Given the description of an element on the screen output the (x, y) to click on. 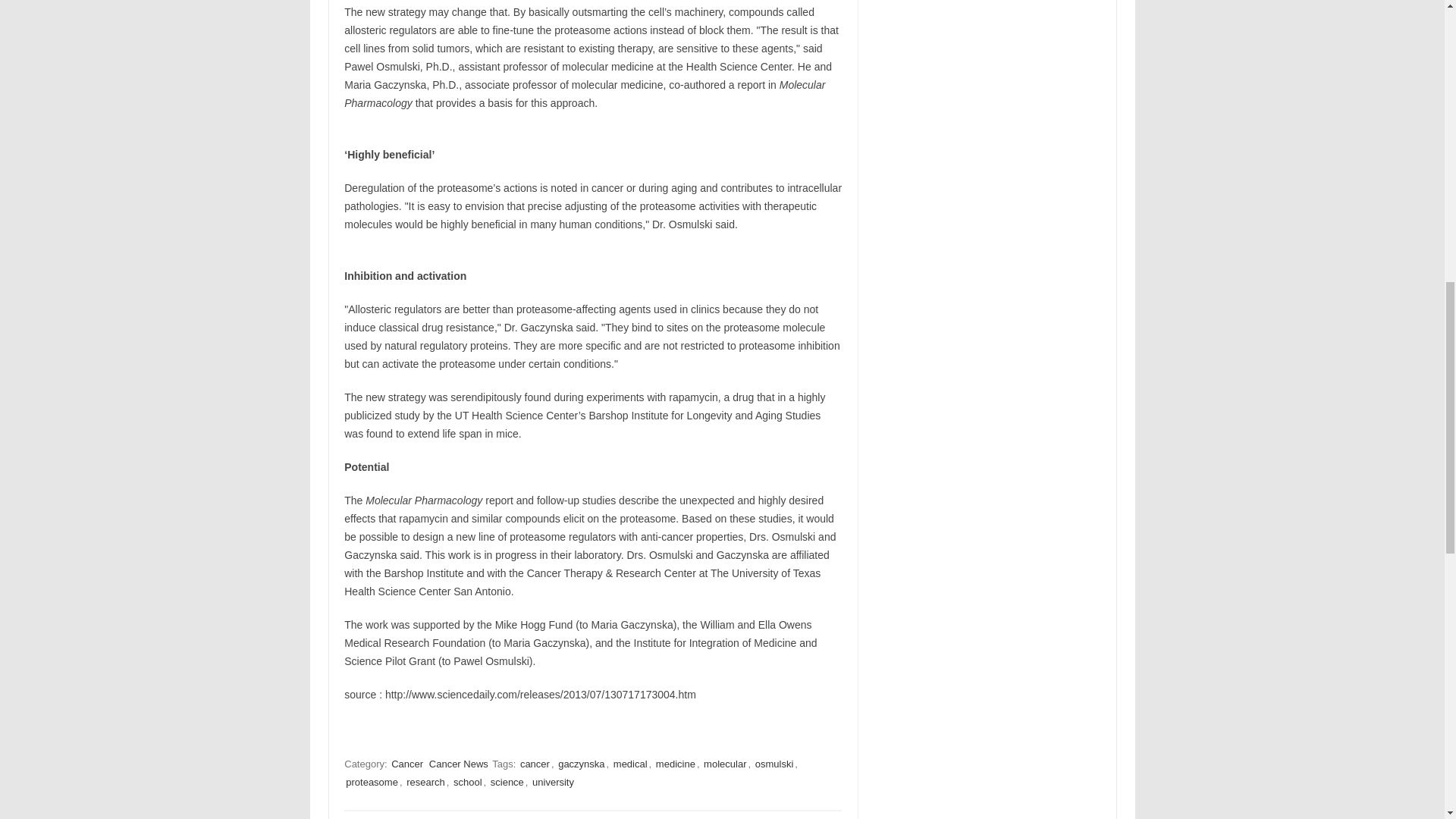
Cancer News (458, 763)
Cancer (407, 763)
proteasome (370, 781)
school (467, 781)
research (425, 781)
osmulski (774, 763)
science (507, 781)
molecular (724, 763)
medicine (675, 763)
gaczynska (580, 763)
university (553, 781)
cancer (534, 763)
medical (630, 763)
